Given the description of an element on the screen output the (x, y) to click on. 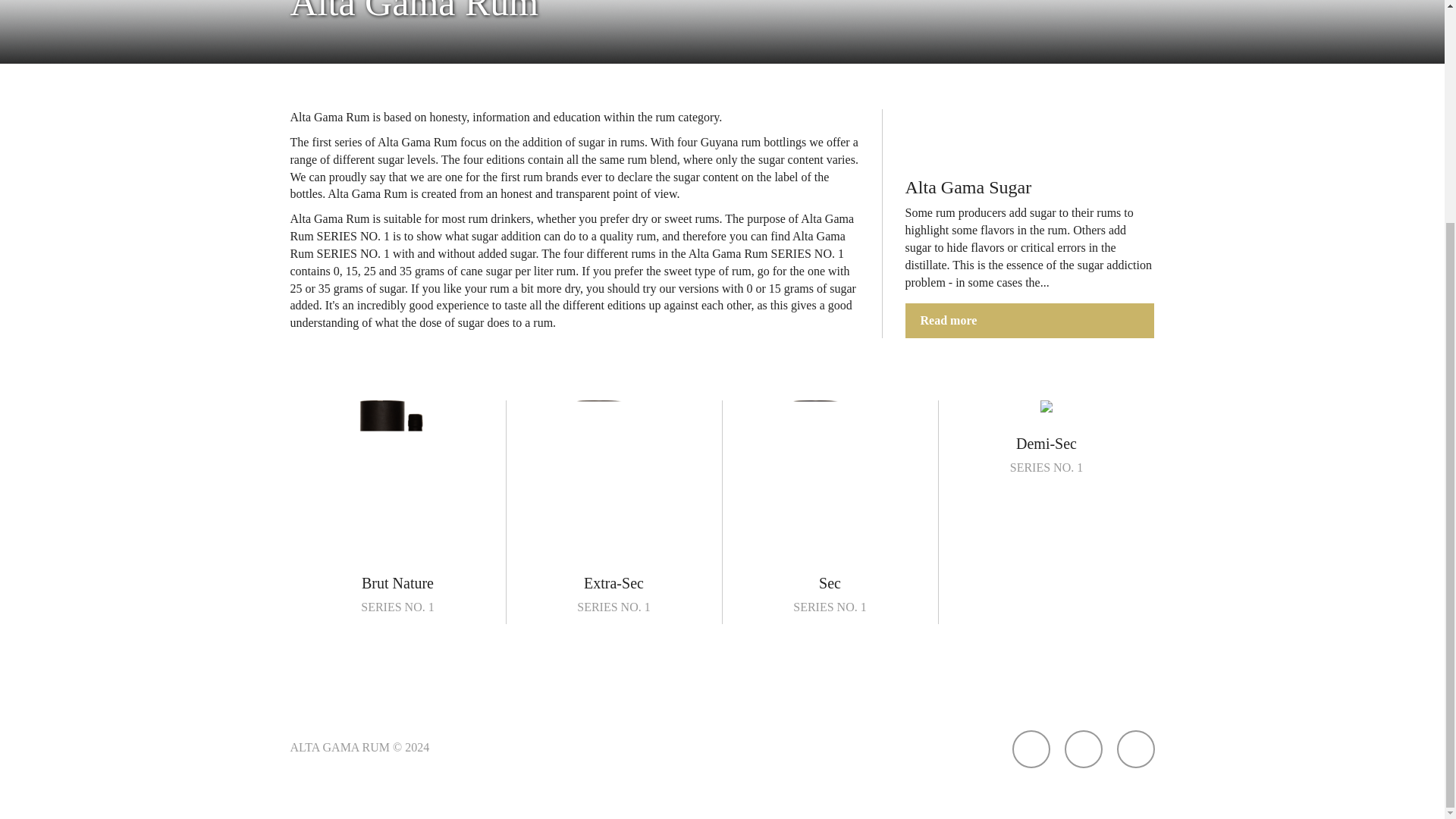
Read more (614, 508)
